Given the description of an element on the screen output the (x, y) to click on. 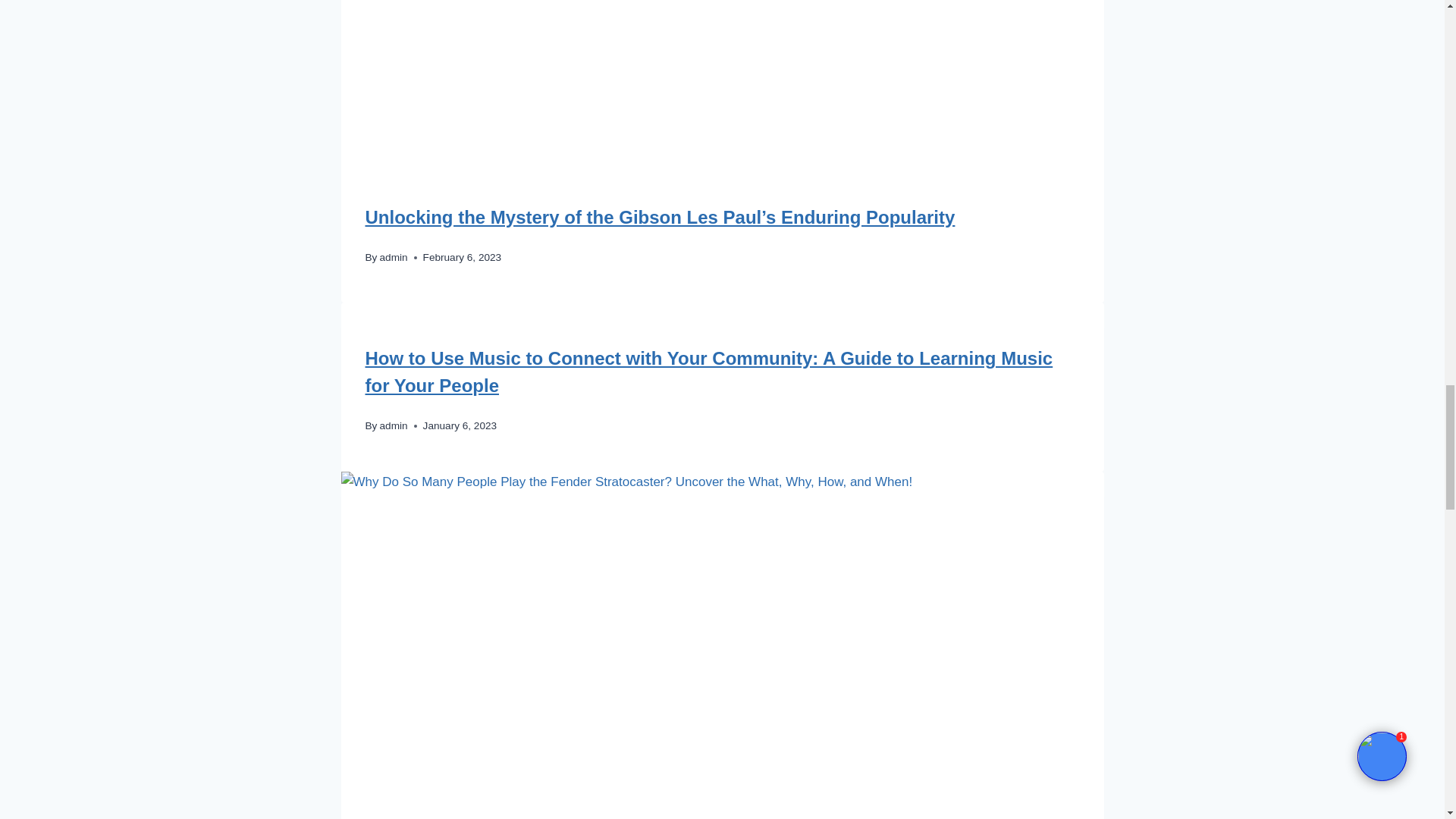
admin (393, 256)
